Given the description of an element on the screen output the (x, y) to click on. 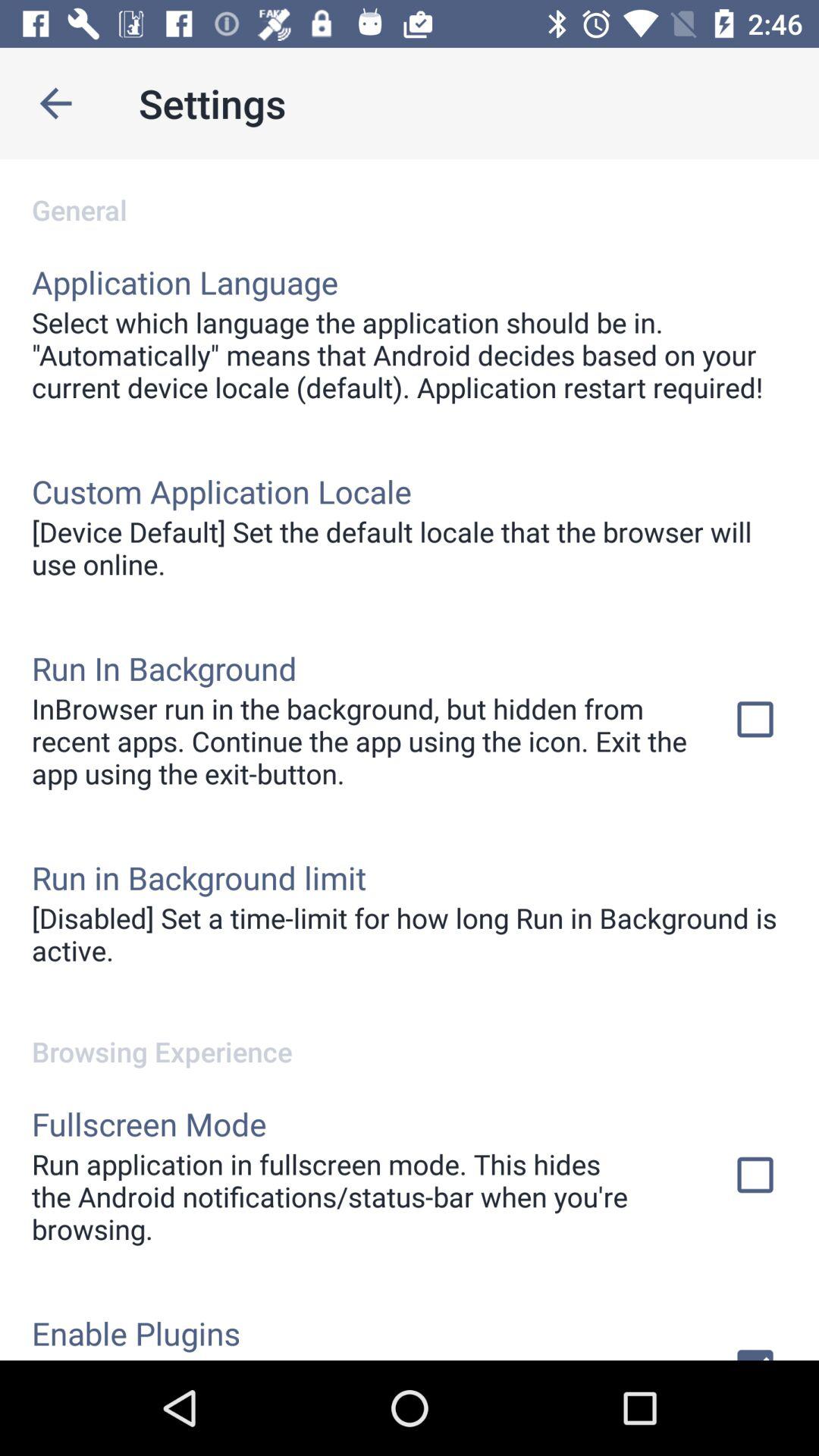
choose app below the run in background (409, 934)
